Given the description of an element on the screen output the (x, y) to click on. 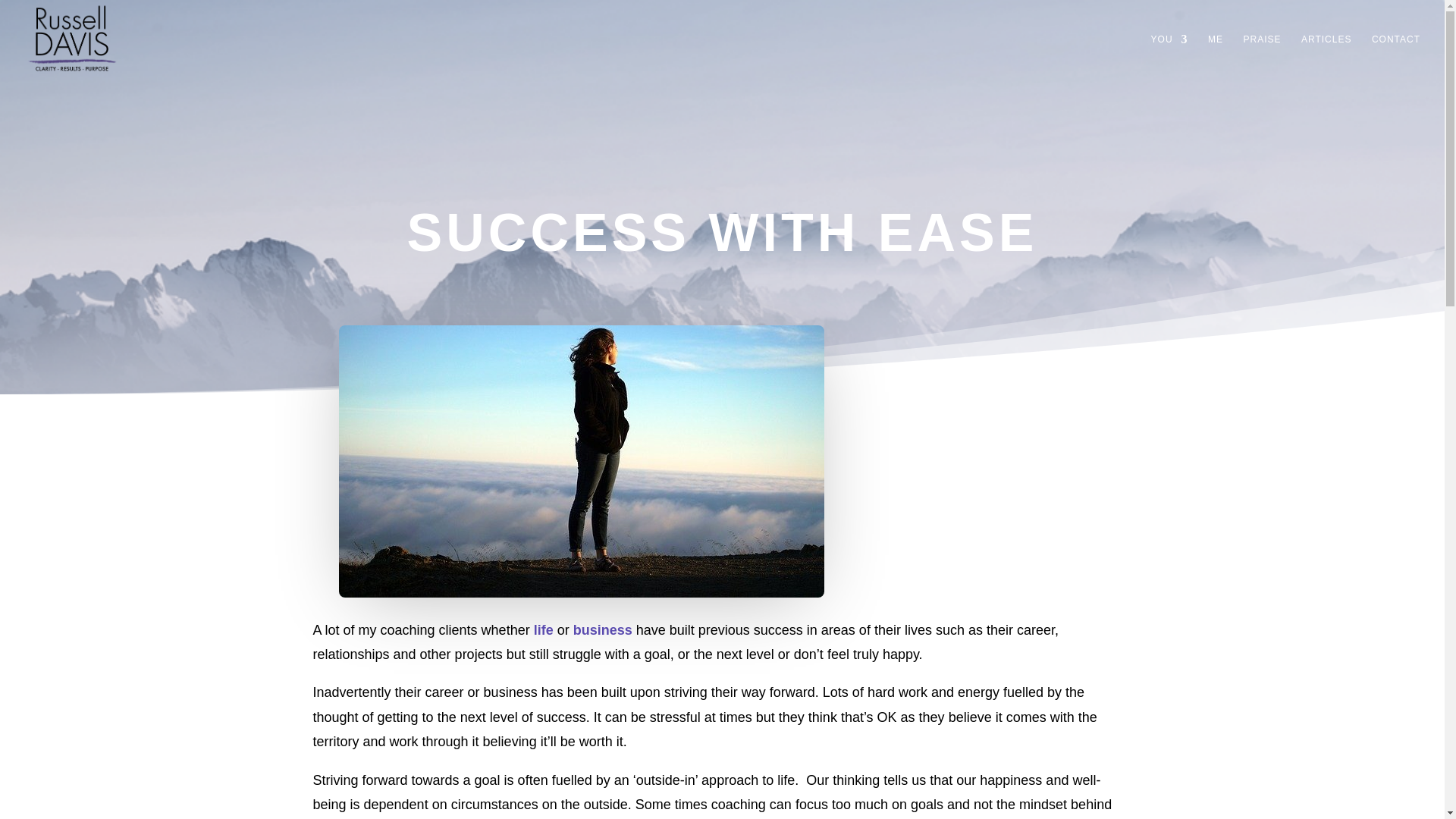
life (543, 630)
Success (581, 461)
business (602, 630)
CONTACT (1396, 56)
ARTICLES (1326, 56)
